Given the description of an element on the screen output the (x, y) to click on. 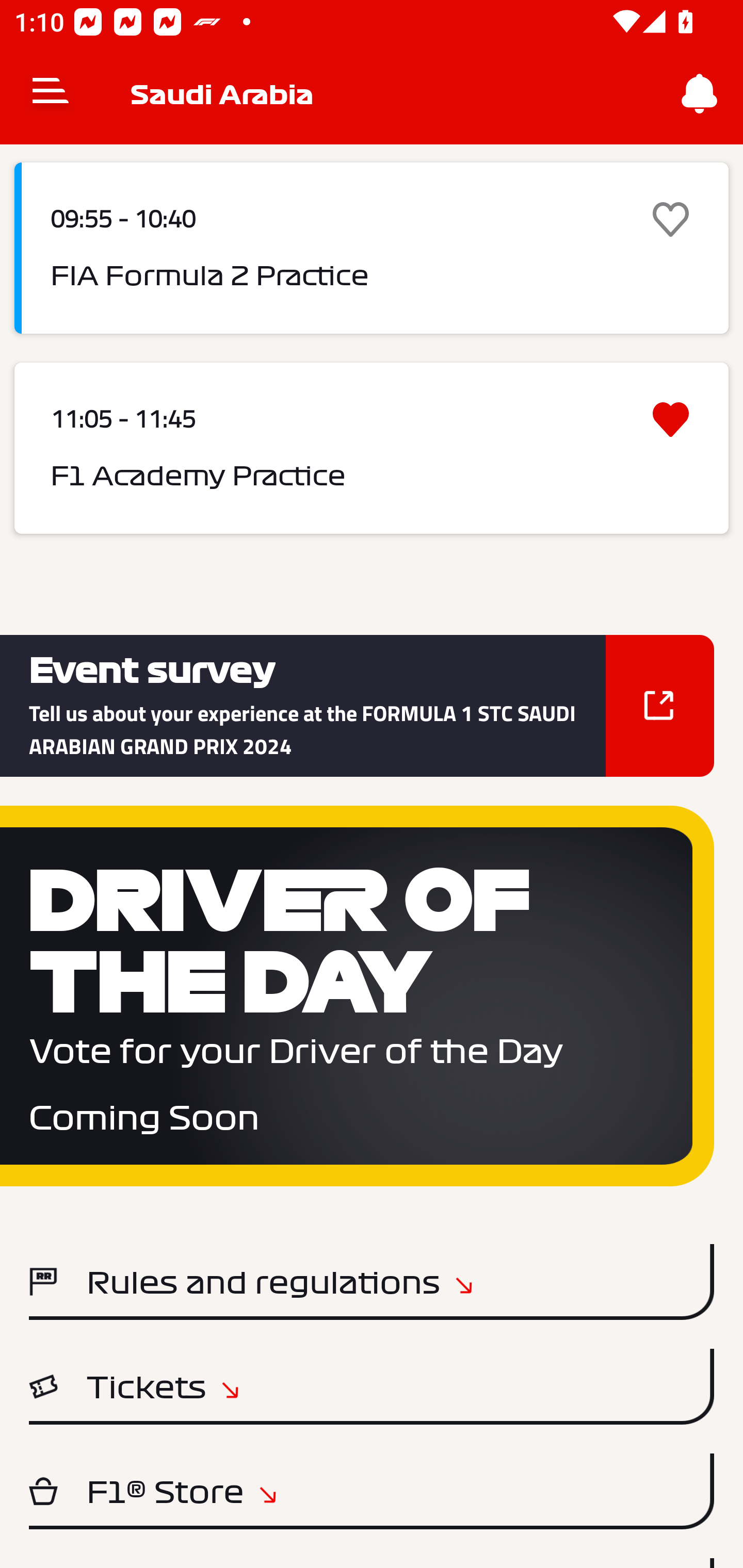
Navigate up (50, 93)
Notifications (699, 93)
09:55 - 10:40 FIA Formula 2 Practice (371, 248)
11:05 - 11:45 F1 Academy Practice (371, 447)
Rules and regulations (371, 1281)
Tickets (371, 1386)
F1® Store (371, 1490)
